Given the description of an element on the screen output the (x, y) to click on. 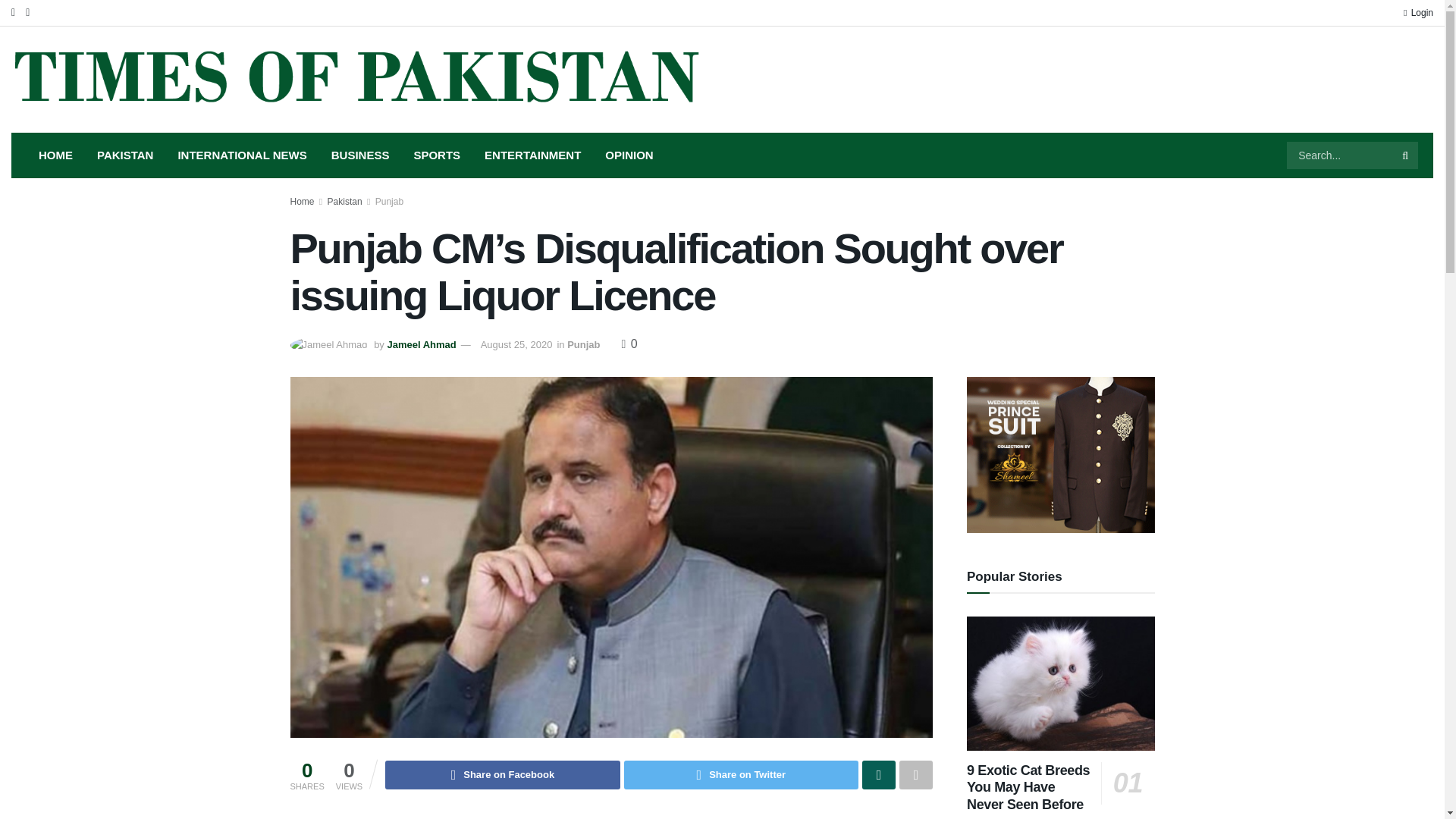
Share on Facebook (502, 774)
HOME (55, 155)
August 25, 2020 (516, 344)
PAKISTAN (124, 155)
BUSINESS (359, 155)
INTERNATIONAL NEWS (241, 155)
Home (301, 201)
OPINION (628, 155)
Login (1417, 12)
Pakistan (344, 201)
Punjab (389, 201)
Punjab (583, 344)
Share on Twitter (741, 774)
Jameel Ahmad (421, 344)
SPORTS (436, 155)
